Given the description of an element on the screen output the (x, y) to click on. 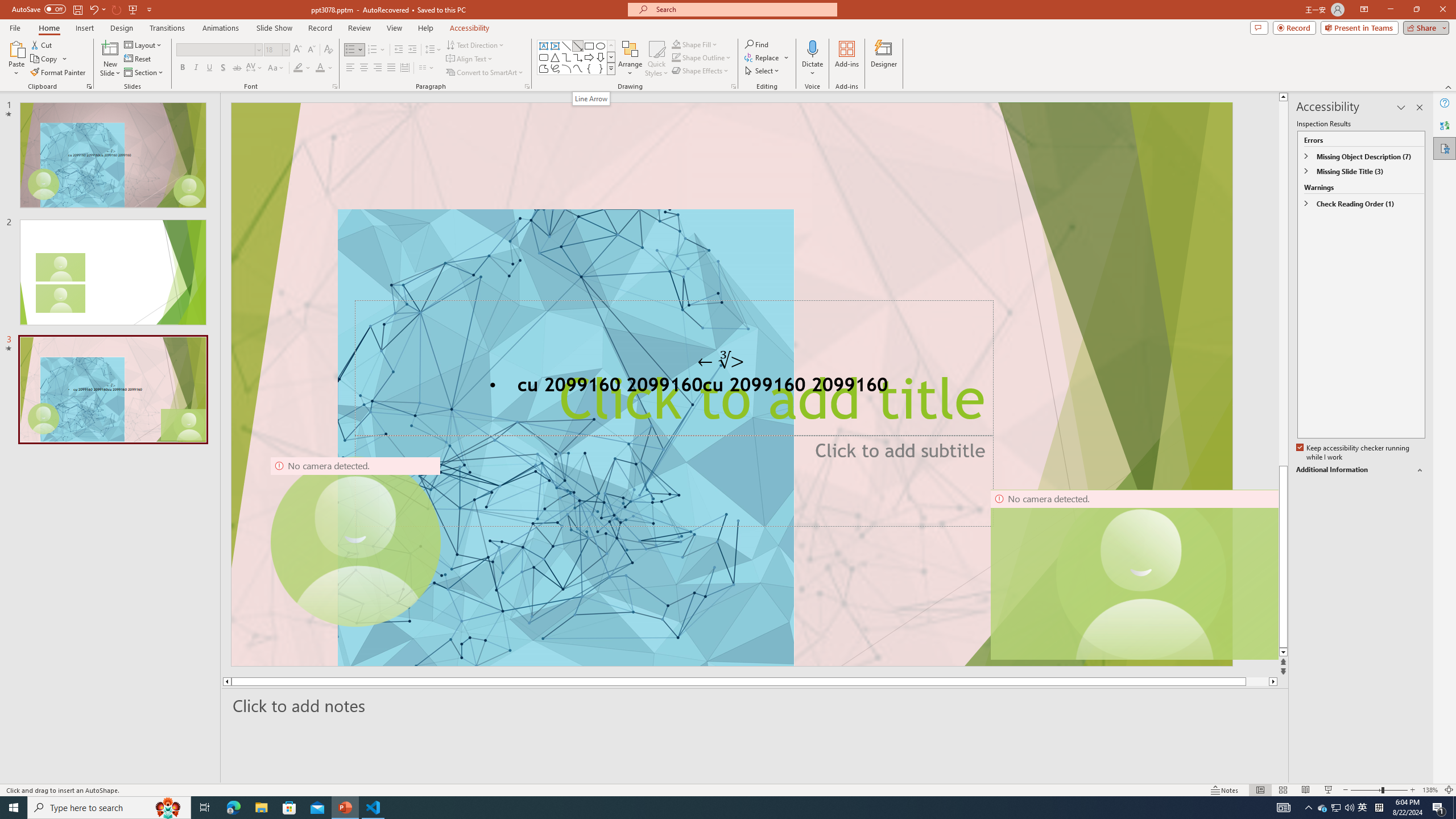
Shape Fill Dark Green, Accent 2 (675, 44)
Increase Font Size (297, 49)
Underline (209, 67)
Line Spacing (433, 49)
Center (363, 67)
Zoom 138% (1430, 790)
